Given the description of an element on the screen output the (x, y) to click on. 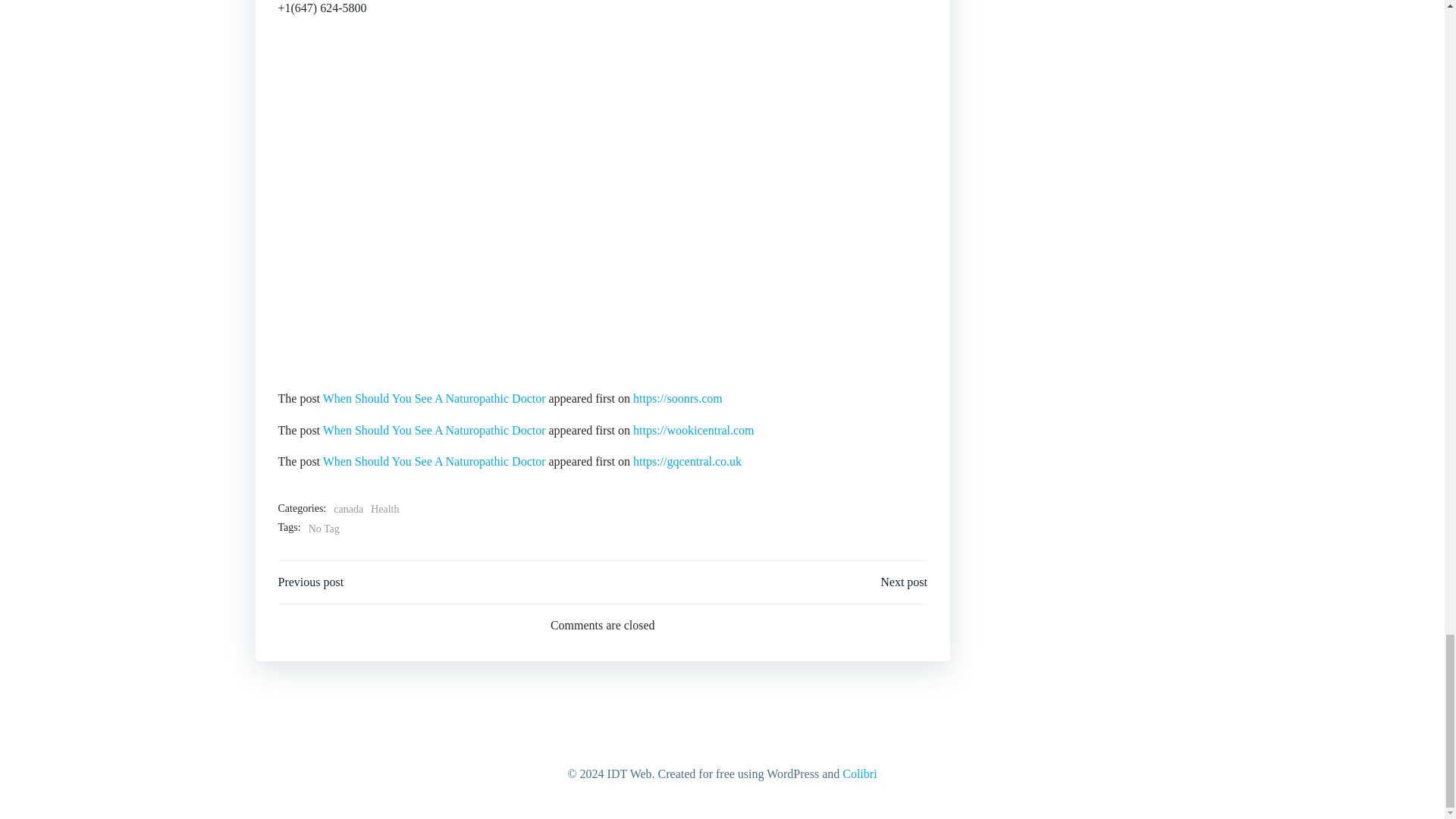
Next post (903, 582)
When Should You See A Naturopathic Doctor (434, 461)
When Should You See A Naturopathic Doctor (434, 430)
Previous post (310, 582)
canada (347, 509)
When Should You See A Naturopathic Doctor (434, 398)
Health (384, 509)
